Given the description of an element on the screen output the (x, y) to click on. 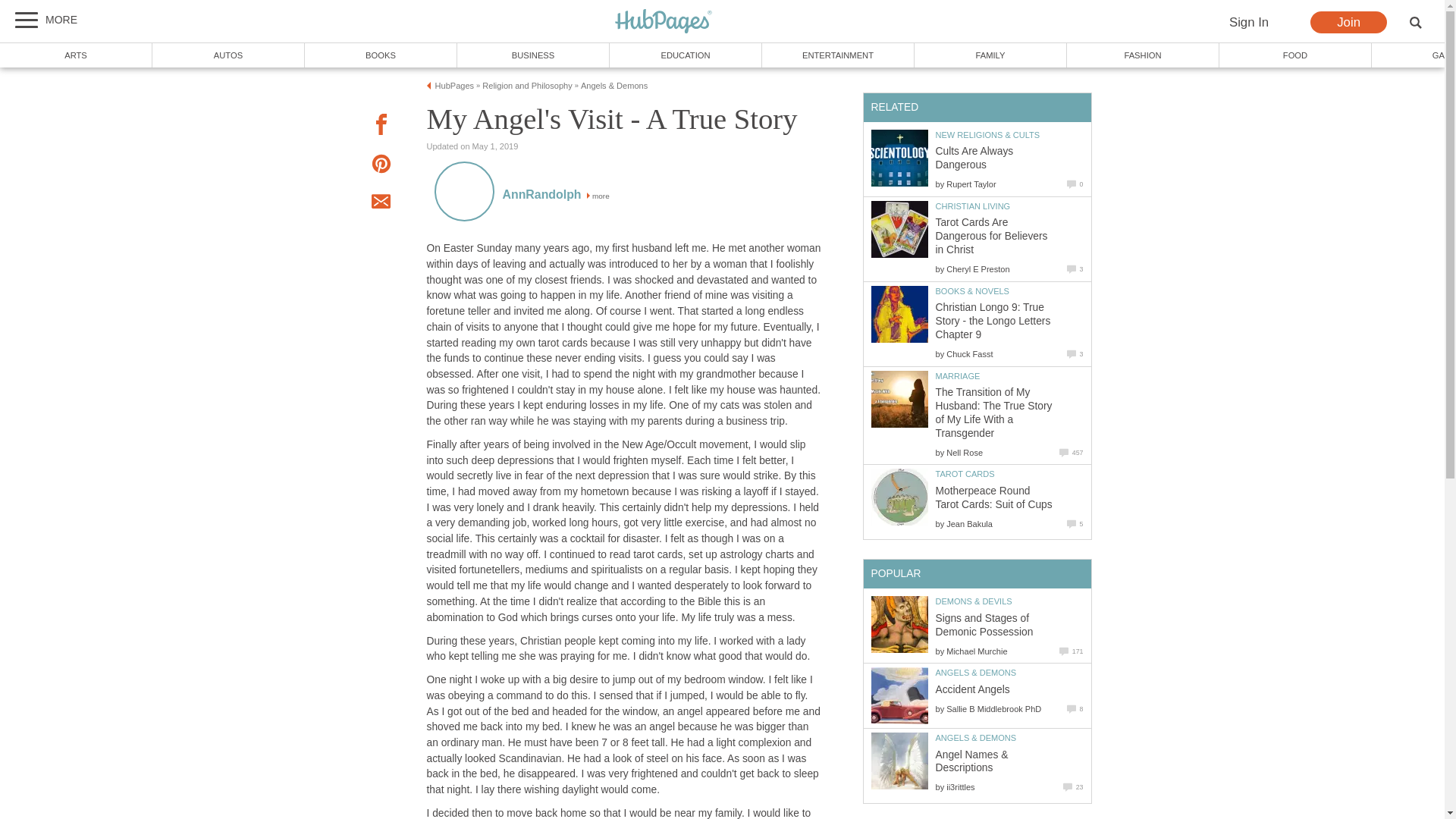
FASHION (1143, 55)
Sign In (1248, 22)
ARTS (76, 55)
ENTERTAINMENT (837, 55)
CHRISTIAN LIVING (973, 205)
EDUCATION (685, 55)
FOOD (1295, 55)
Join (1348, 22)
Religion and Philosophy (526, 85)
Motherpeace Round Tarot Cards: Suit of Cups (898, 496)
